Given the description of an element on the screen output the (x, y) to click on. 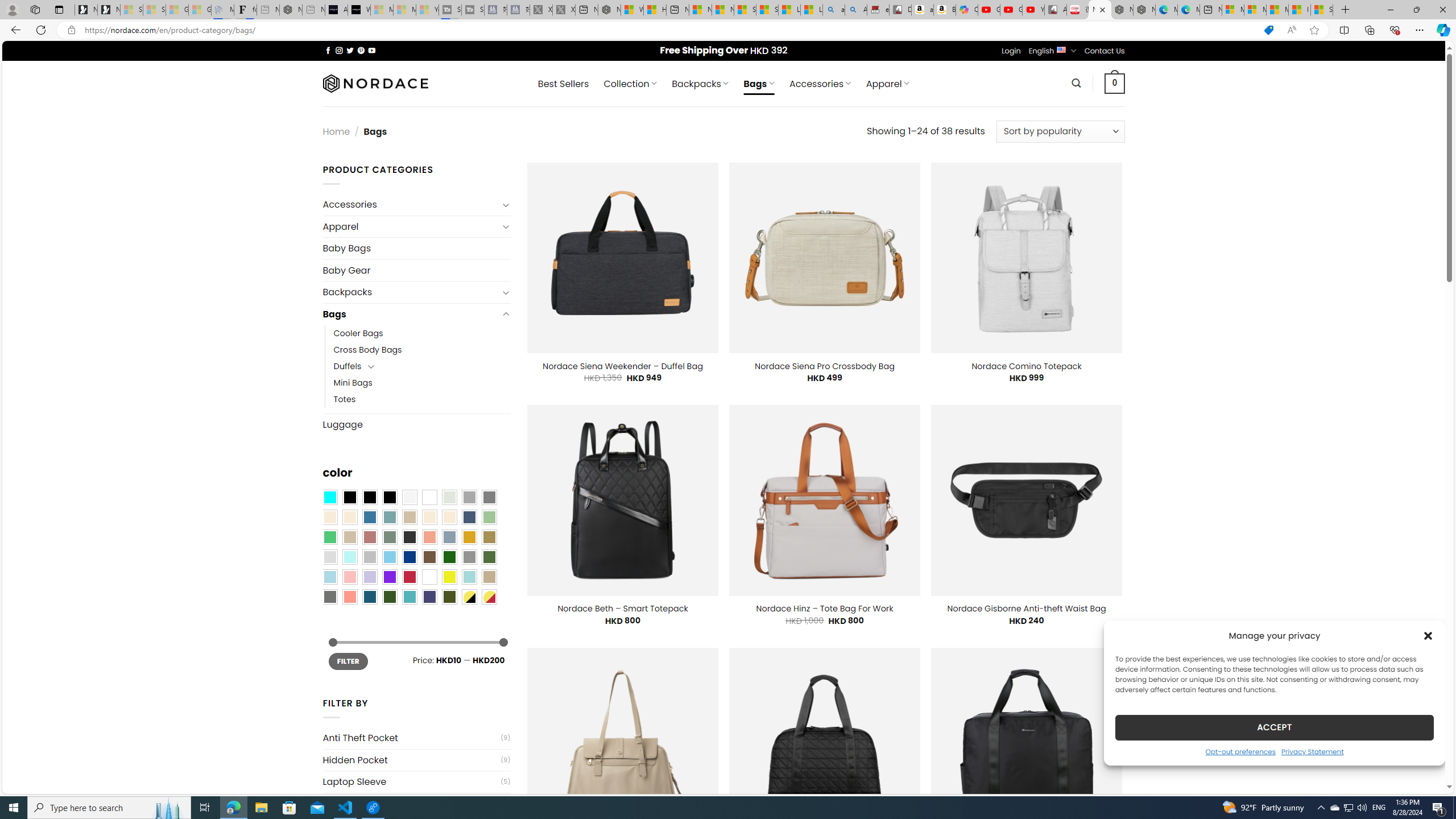
Purple Navy (429, 596)
Dusty Blue (449, 536)
Cross Body Bags (422, 349)
Green (488, 557)
Blue Sage (389, 517)
Amazon Echo Dot PNG - Search Images (856, 9)
Navy Blue (408, 557)
ACCEPT (1274, 727)
This site has coupons! Shopping in Microsoft Edge (1268, 29)
